Given the description of an element on the screen output the (x, y) to click on. 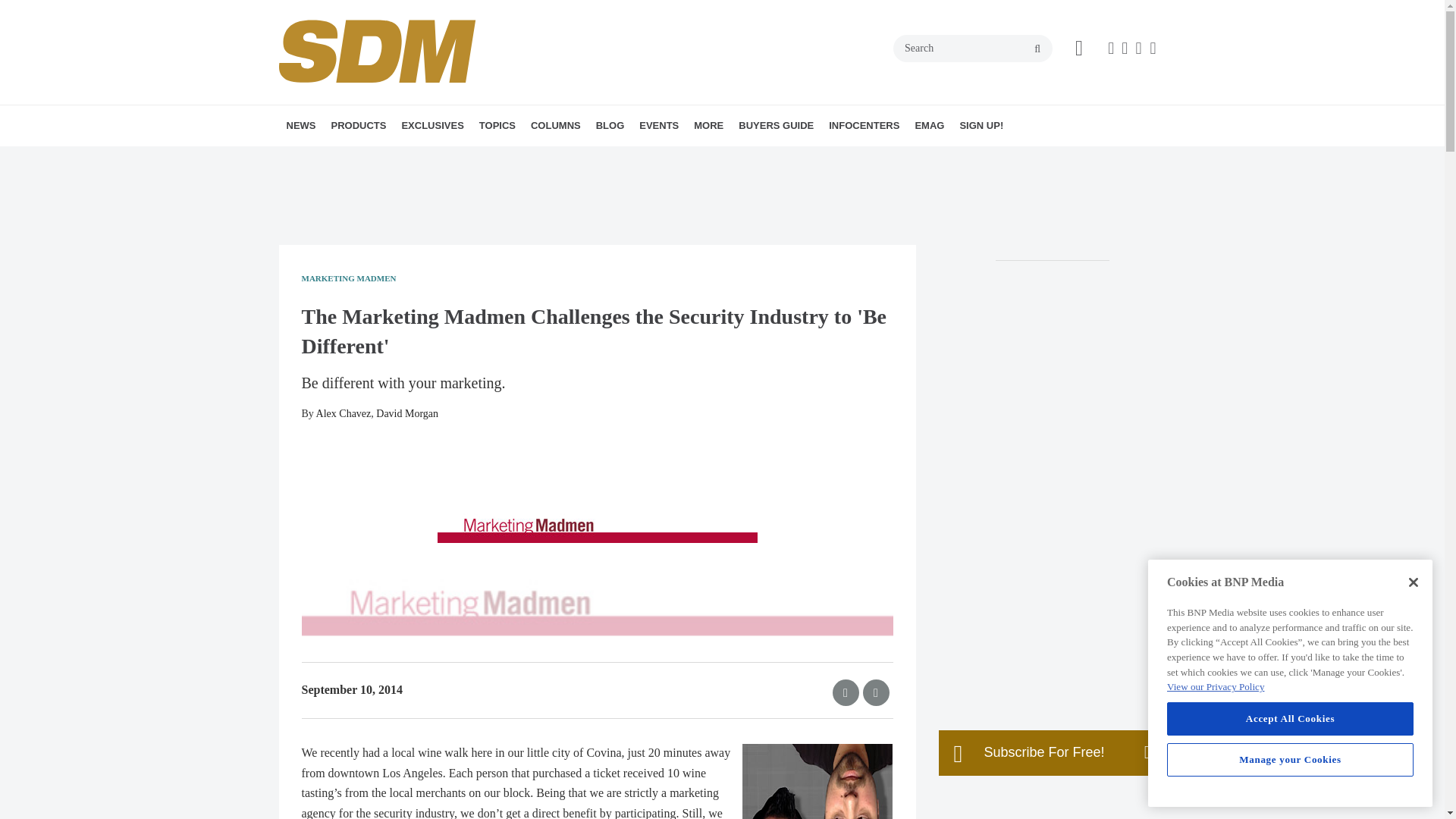
PRODUCTS (358, 125)
SMART HOME (587, 158)
PROJECT OF THE YEAR (524, 158)
SYSTEMS INTEGRATOR OF THE YEAR (519, 167)
DEALER OF THE YEAR (515, 158)
NEWS (301, 125)
MARKETING MADMEN (641, 158)
EDITOR'S ANGLE (625, 158)
TOP SYSTEMS INTEGRATOR REPORT (496, 167)
Search (972, 48)
